Given the description of an element on the screen output the (x, y) to click on. 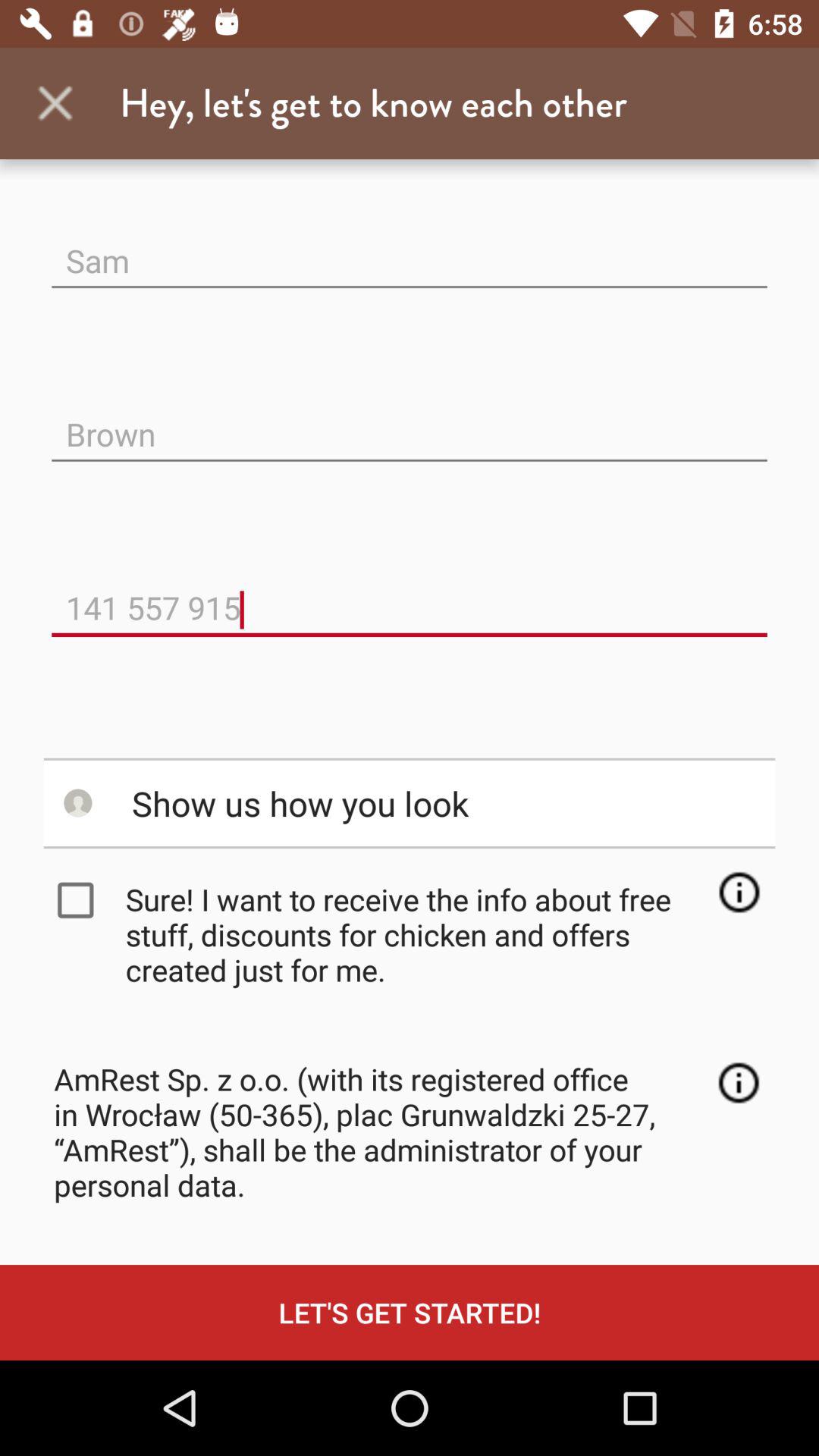
click the sure i want item (413, 934)
